Given the description of an element on the screen output the (x, y) to click on. 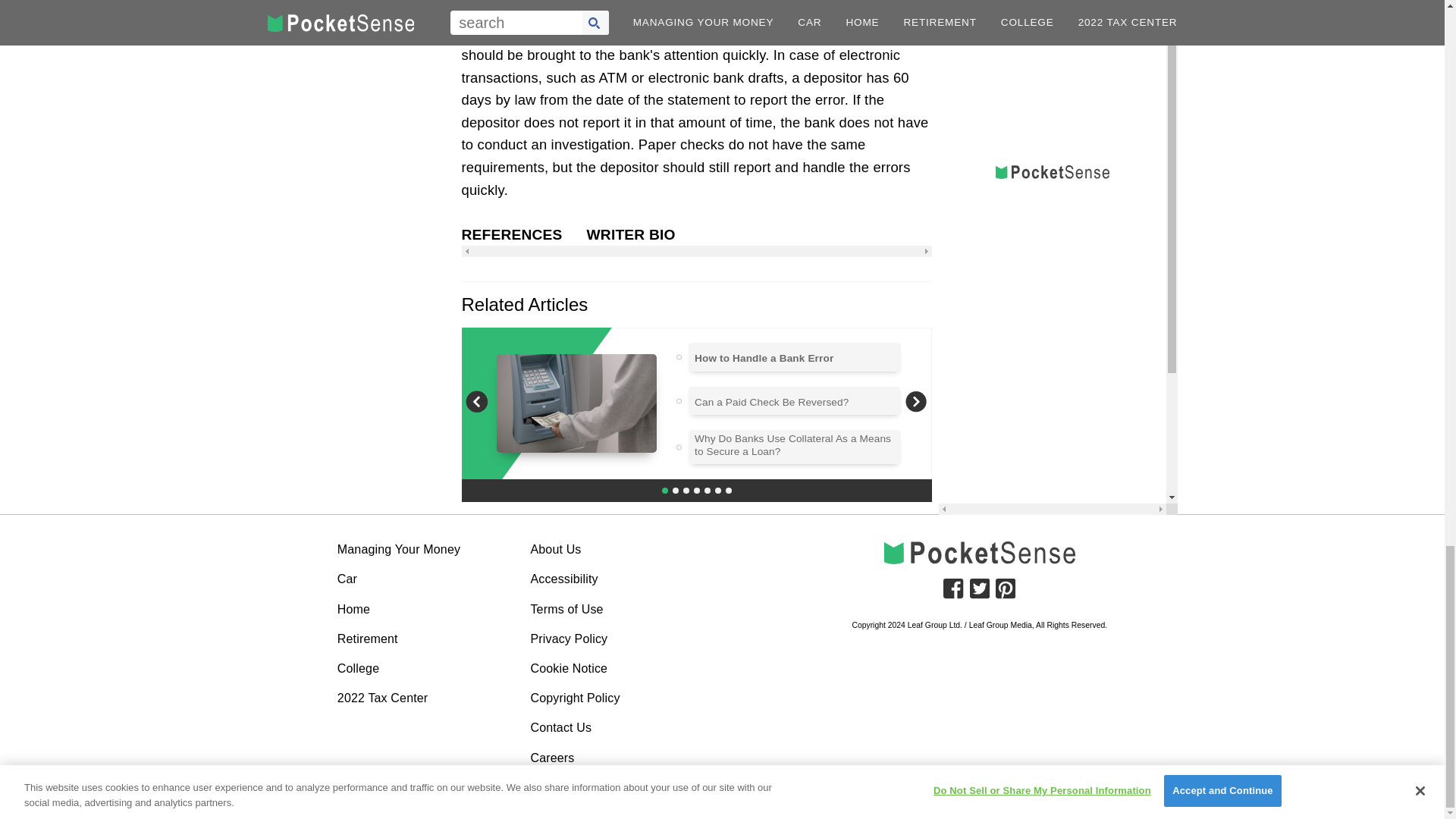
How to Handle a Bank Error (763, 358)
Why Do Banks Use Collateral As a Means to Secure a Loan? (794, 445)
Can a Paid Check Be Reversed? (771, 402)
